Given the description of an element on the screen output the (x, y) to click on. 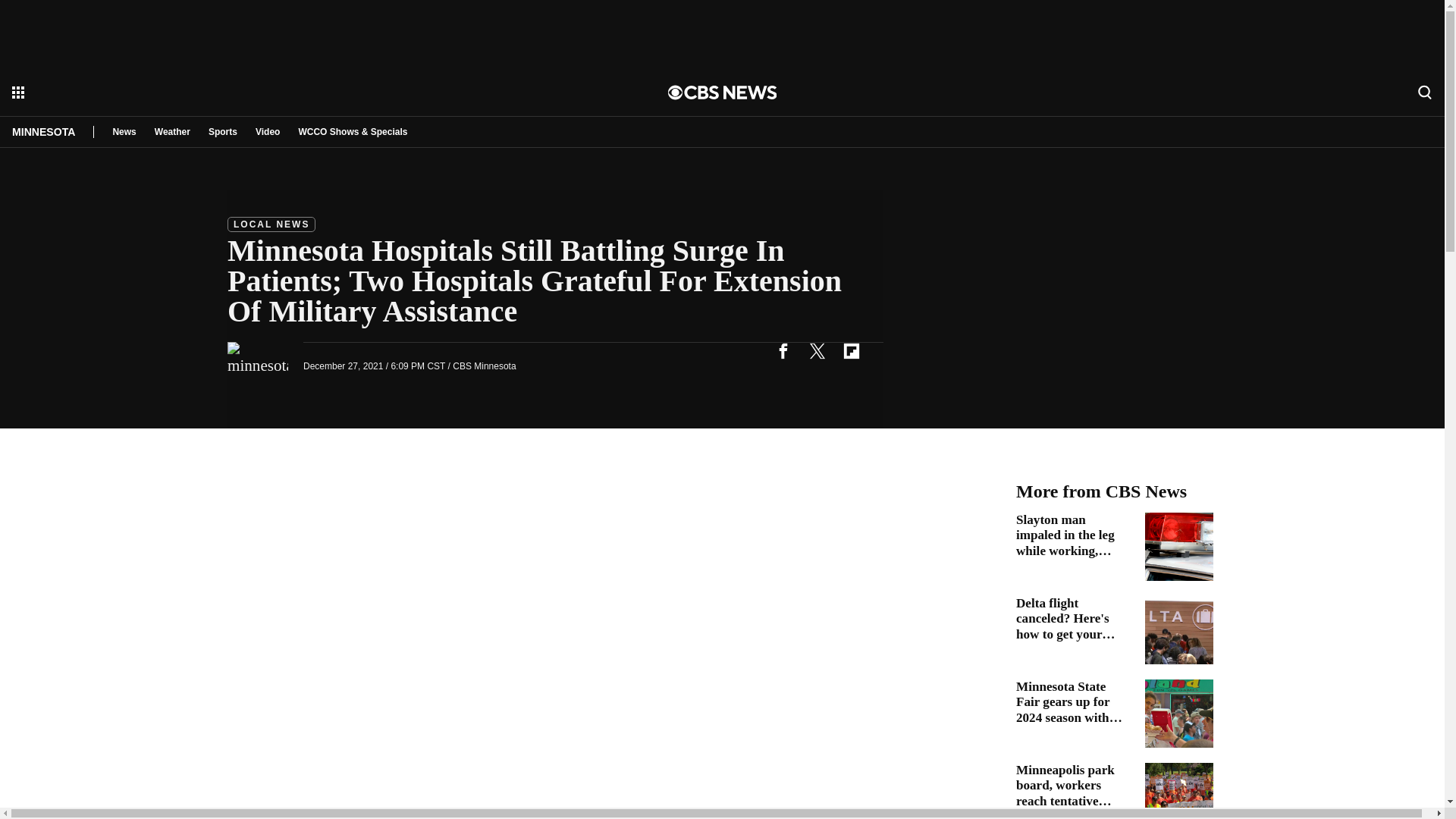
flipboard (850, 350)
facebook (782, 350)
twitter (816, 350)
